Given the description of an element on the screen output the (x, y) to click on. 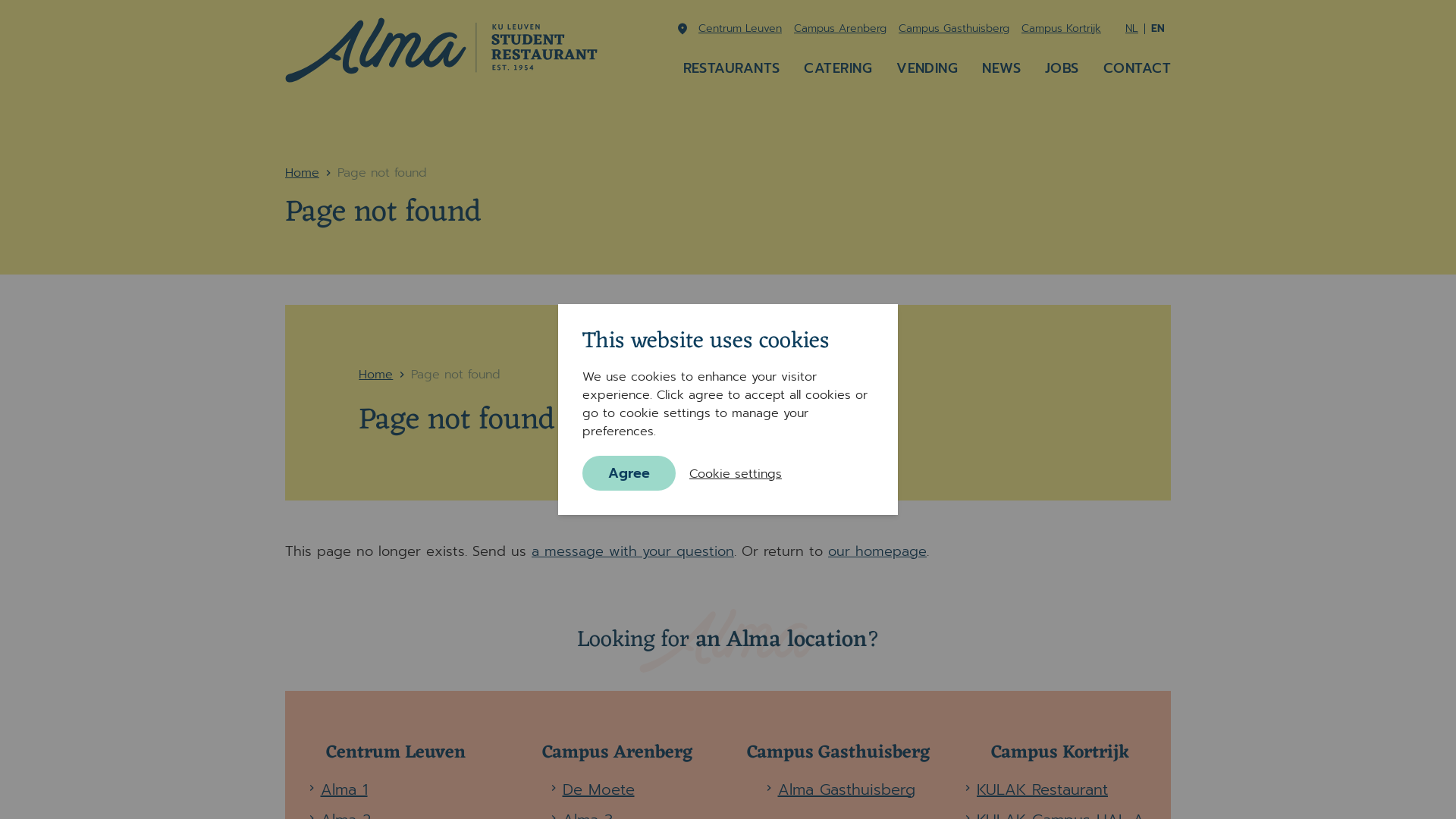
RESTAURANTS Element type: text (730, 68)
Page not found Element type: text (455, 374)
Home Element type: text (302, 172)
De Moete Element type: text (598, 789)
Page not found Element type: text (381, 172)
CONTACT Element type: text (1136, 68)
Agree Element type: text (628, 472)
NL Element type: text (1131, 28)
Centrum Leuven Element type: text (739, 28)
EN Element type: text (1157, 28)
Campus Kortrijk Element type: text (1061, 28)
JOBS Element type: text (1061, 68)
our homepage Element type: text (877, 550)
a message with your question Element type: text (632, 550)
Campus Arenberg Element type: text (839, 28)
Alma 1 Element type: text (343, 789)
KULAK Restaurant Element type: text (1041, 789)
NEWS Element type: text (1001, 68)
Campus Gasthuisberg Element type: text (953, 28)
Cookie settings Element type: text (735, 473)
VENDING Element type: text (926, 68)
CATERING Element type: text (837, 68)
Home Element type: text (375, 374)
Alma Gasthuisberg Element type: text (846, 789)
